Given the description of an element on the screen output the (x, y) to click on. 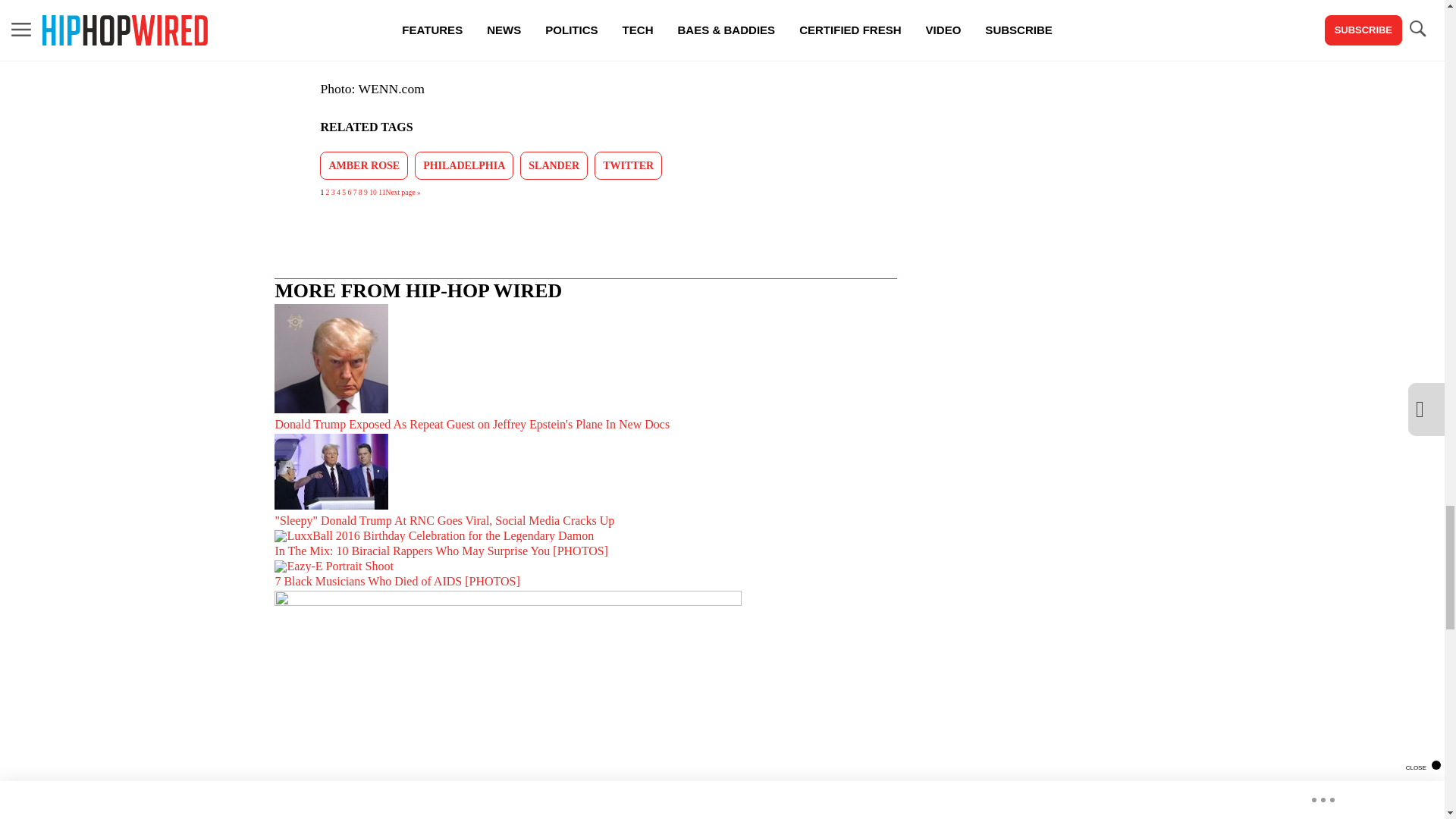
AMBER ROSE (363, 165)
9 (366, 192)
TWITTER (628, 165)
11 (381, 192)
8 (360, 192)
4 (338, 192)
5 (344, 192)
10 (373, 192)
PHILADELPHIA (463, 165)
2 (328, 192)
